Given the description of an element on the screen output the (x, y) to click on. 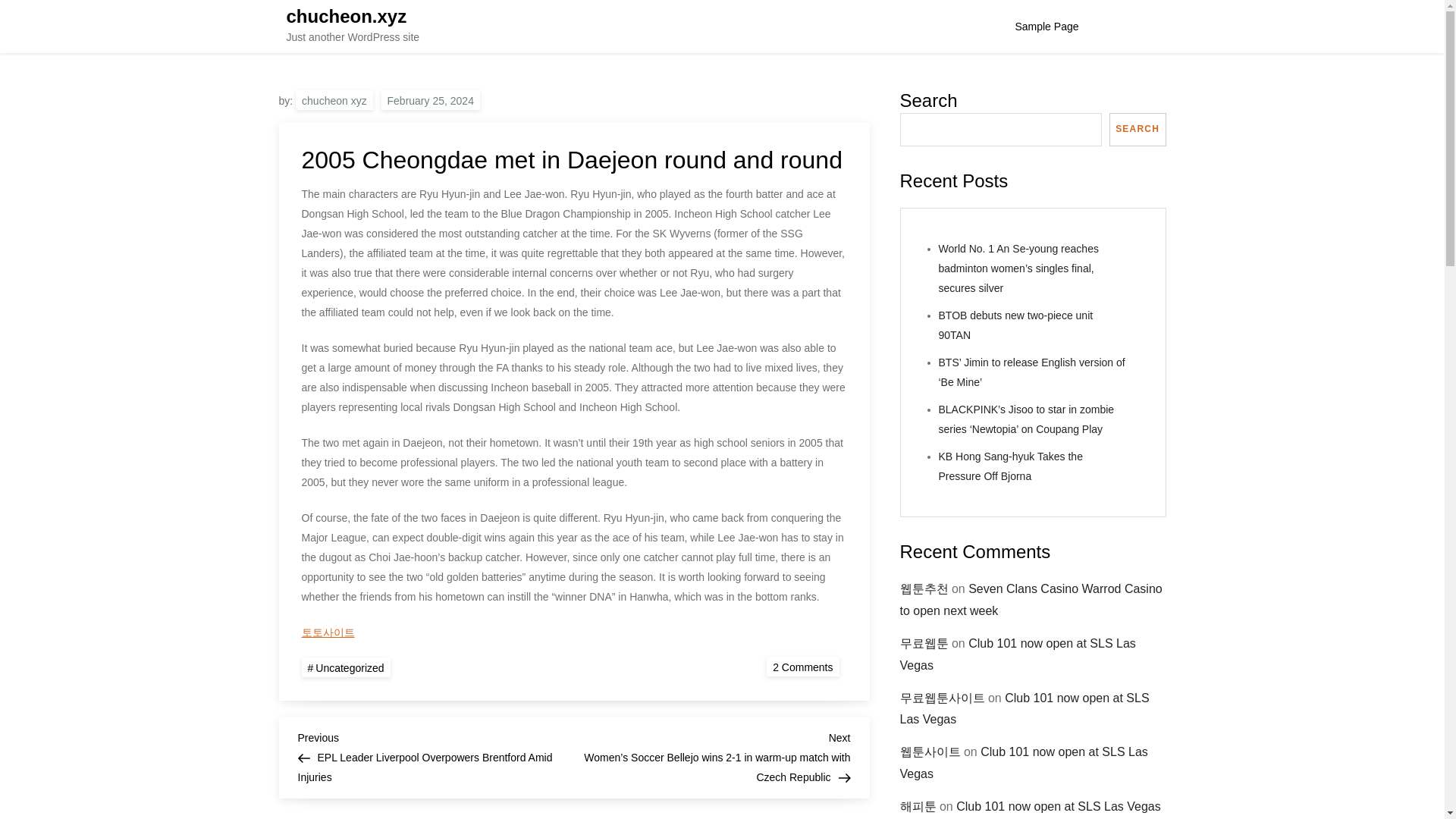
chucheon xyz (333, 99)
Seven Clans Casino Warrod Casino to open next week (1030, 599)
Uncategorized (345, 667)
BTOB debuts new two-piece unit 90TAN (1016, 325)
Sample Page (802, 666)
February 25, 2024 (1046, 26)
SEARCH (430, 99)
Club 101 now open at SLS Las Vegas (1137, 129)
Club 101 now open at SLS Las Vegas (1023, 762)
Club 101 now open at SLS Las Vegas (1017, 654)
KB Hong Sang-hyuk Takes the Pressure Off Bjorna (1058, 806)
chucheon.xyz (1011, 466)
Club 101 now open at SLS Las Vegas (346, 15)
